Given the description of an element on the screen output the (x, y) to click on. 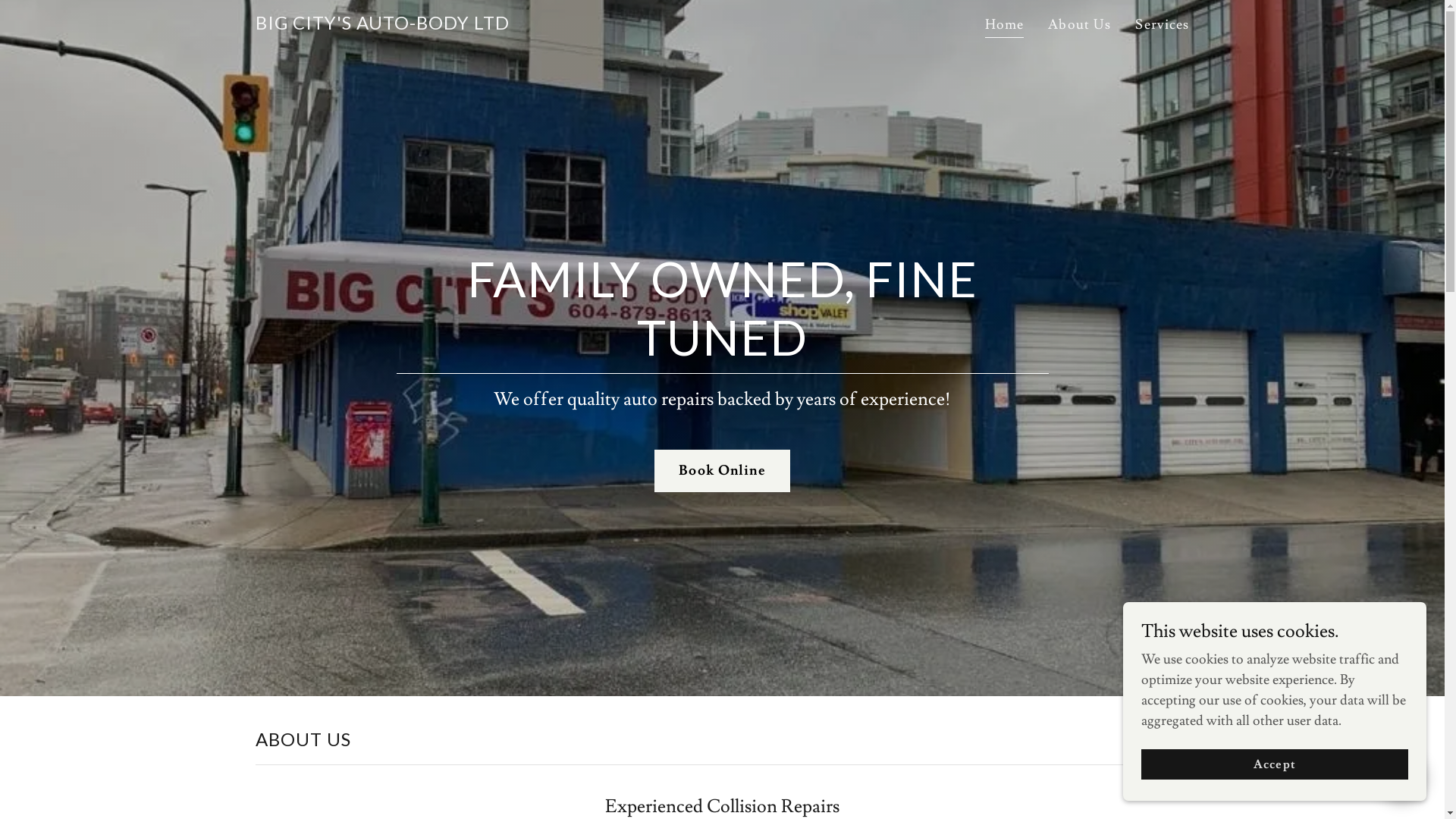
About Us Element type: text (1079, 24)
Book Online Element type: text (721, 470)
BIG CITY'S AUTO-BODY LTD Element type: text (381, 25)
Accept Element type: text (1274, 764)
Home Element type: text (1004, 26)
Services Element type: text (1161, 24)
